Given the description of an element on the screen output the (x, y) to click on. 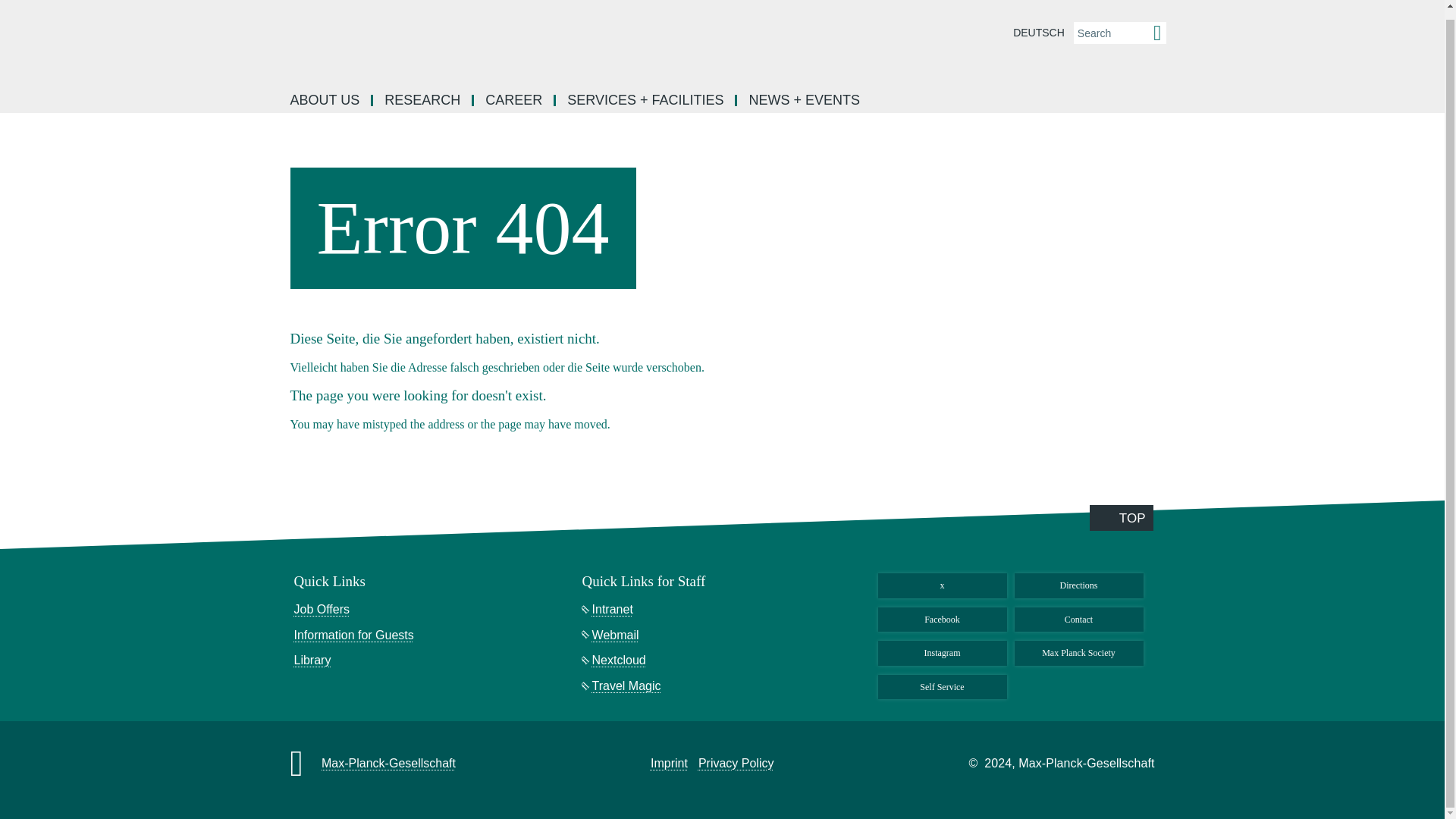
ABOUT US (326, 100)
RESEARCH (423, 100)
DEUTSCH (1038, 33)
